Given the description of an element on the screen output the (x, y) to click on. 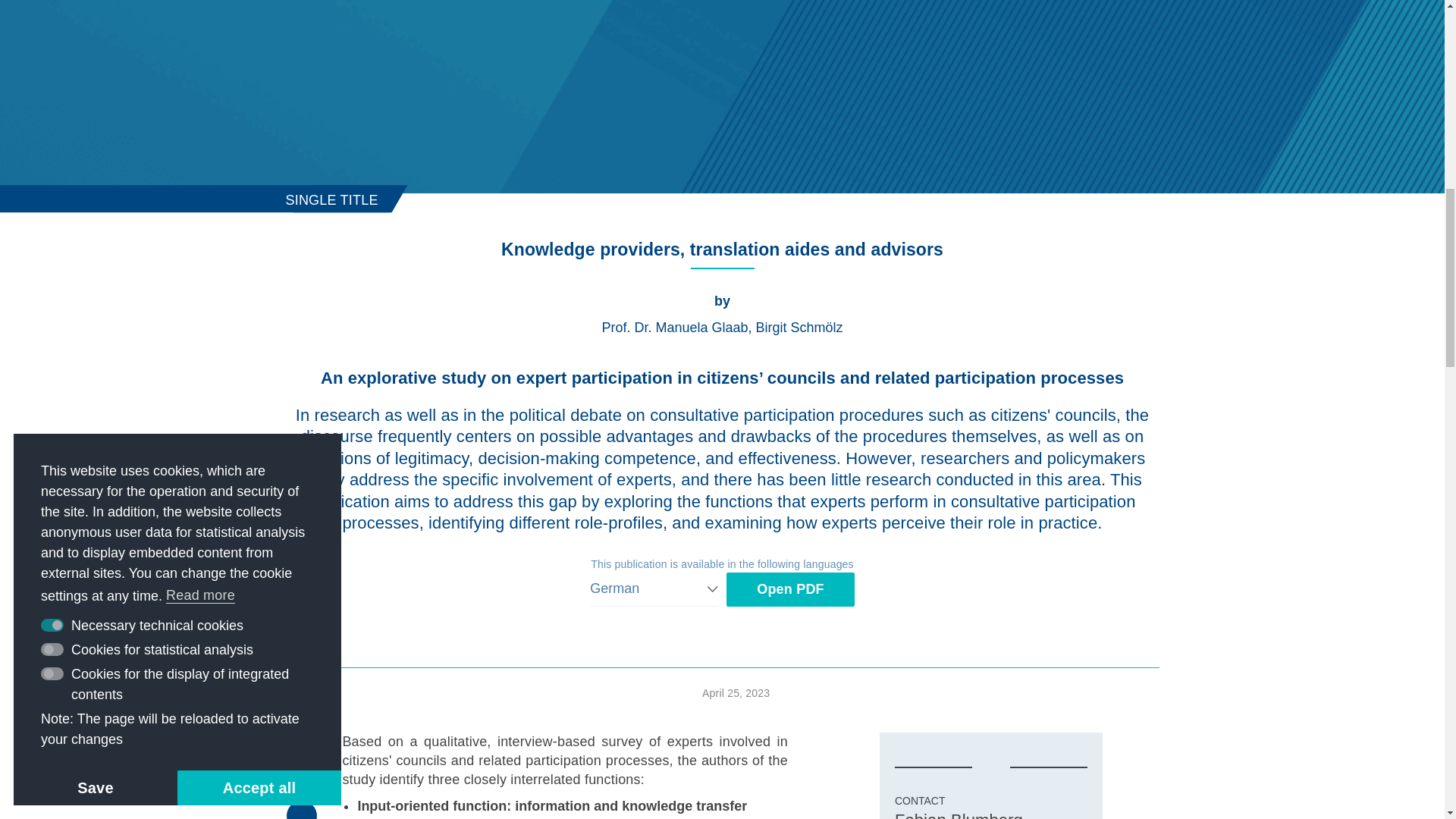
Print (301, 747)
Share (301, 809)
Send via mail (301, 781)
